Given the description of an element on the screen output the (x, y) to click on. 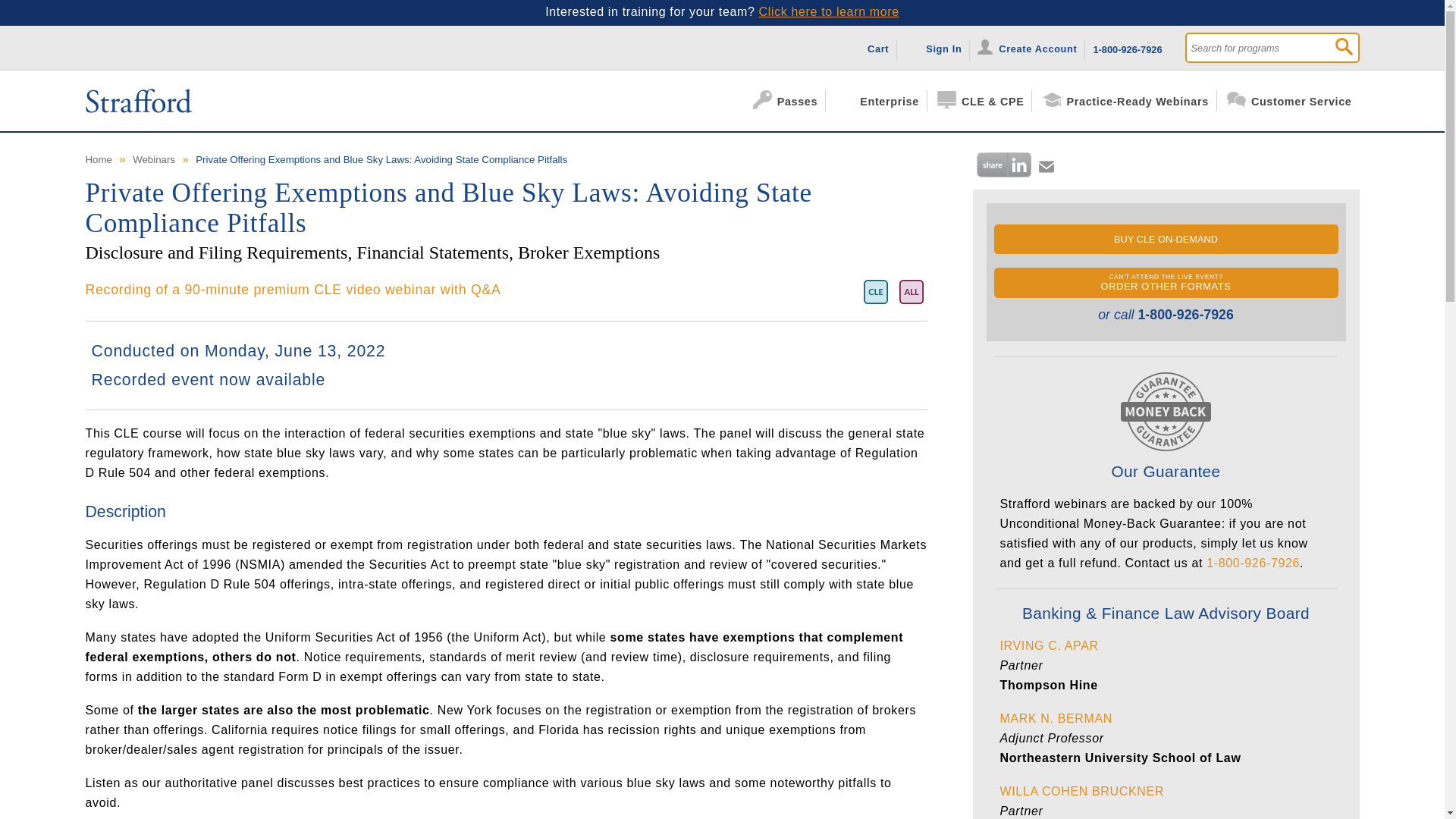
Passes (788, 100)
1-800-926-7926 (1126, 47)
Create Account (1030, 46)
Buy CLE On-Demand (1165, 238)
Sign In (936, 46)
Click here to learn more (828, 11)
Enterprise (880, 100)
Cart (870, 46)
